Given the description of an element on the screen output the (x, y) to click on. 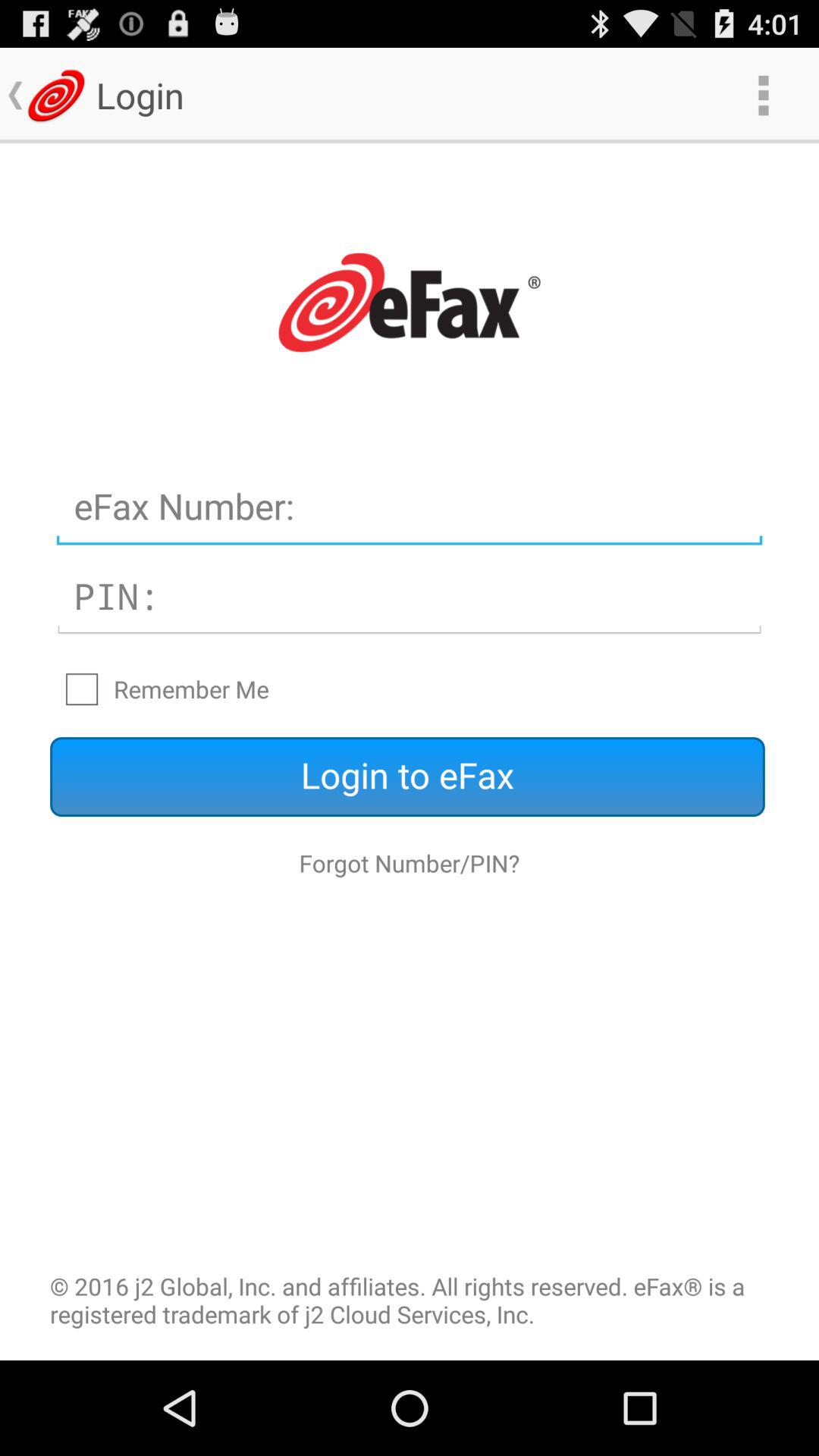
open icon to the right of login icon (763, 95)
